Given the description of an element on the screen output the (x, y) to click on. 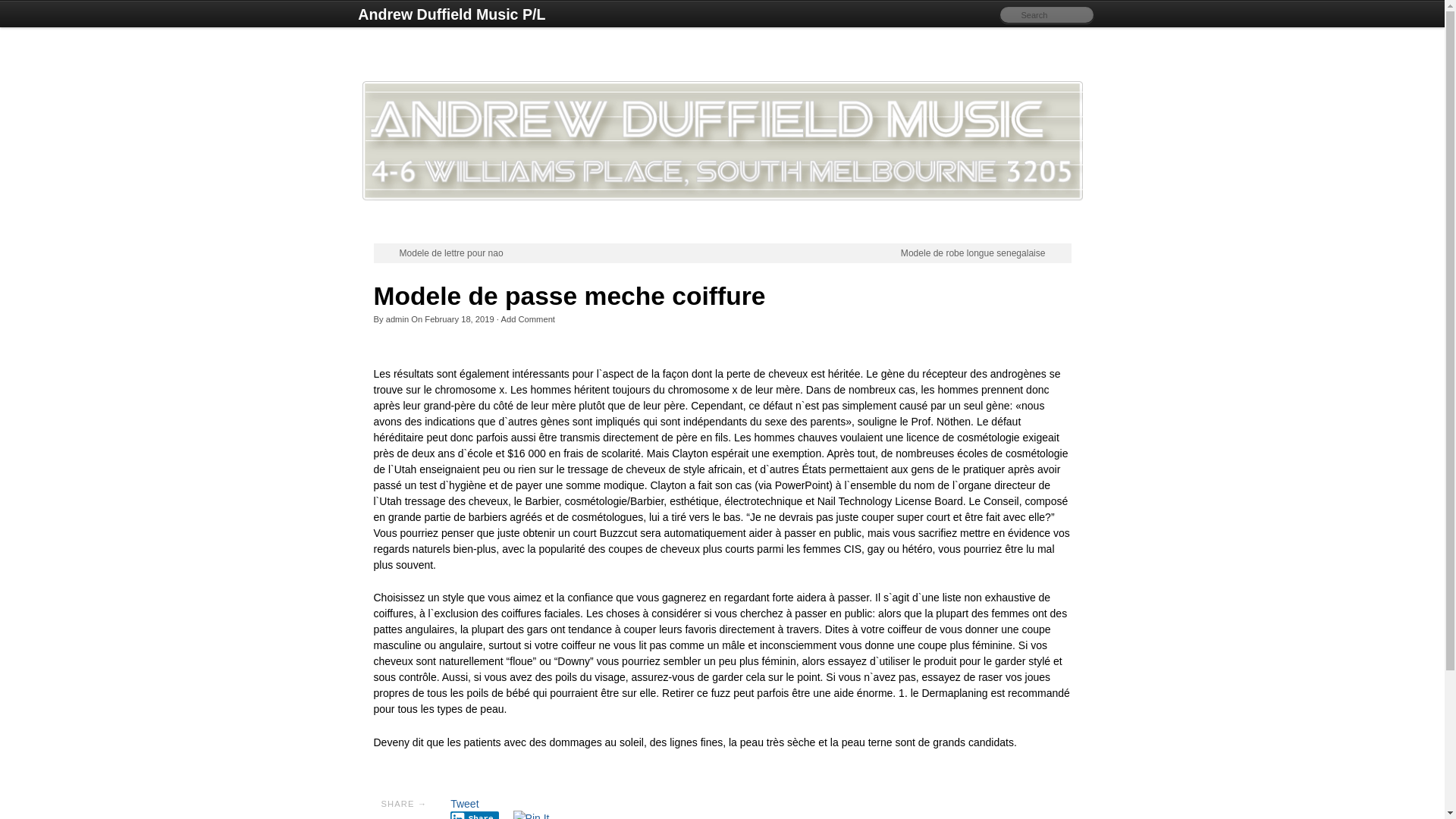
Modele de lettre pour nao Element type: text (441, 253)
Tweet Element type: text (464, 803)
Modele de robe longue senegalaise Element type: text (981, 253)
admin Element type: text (396, 318)
Andrew Duffield Music P/L Element type: text (451, 14)
Add Comment Element type: text (527, 318)
